Given the description of an element on the screen output the (x, y) to click on. 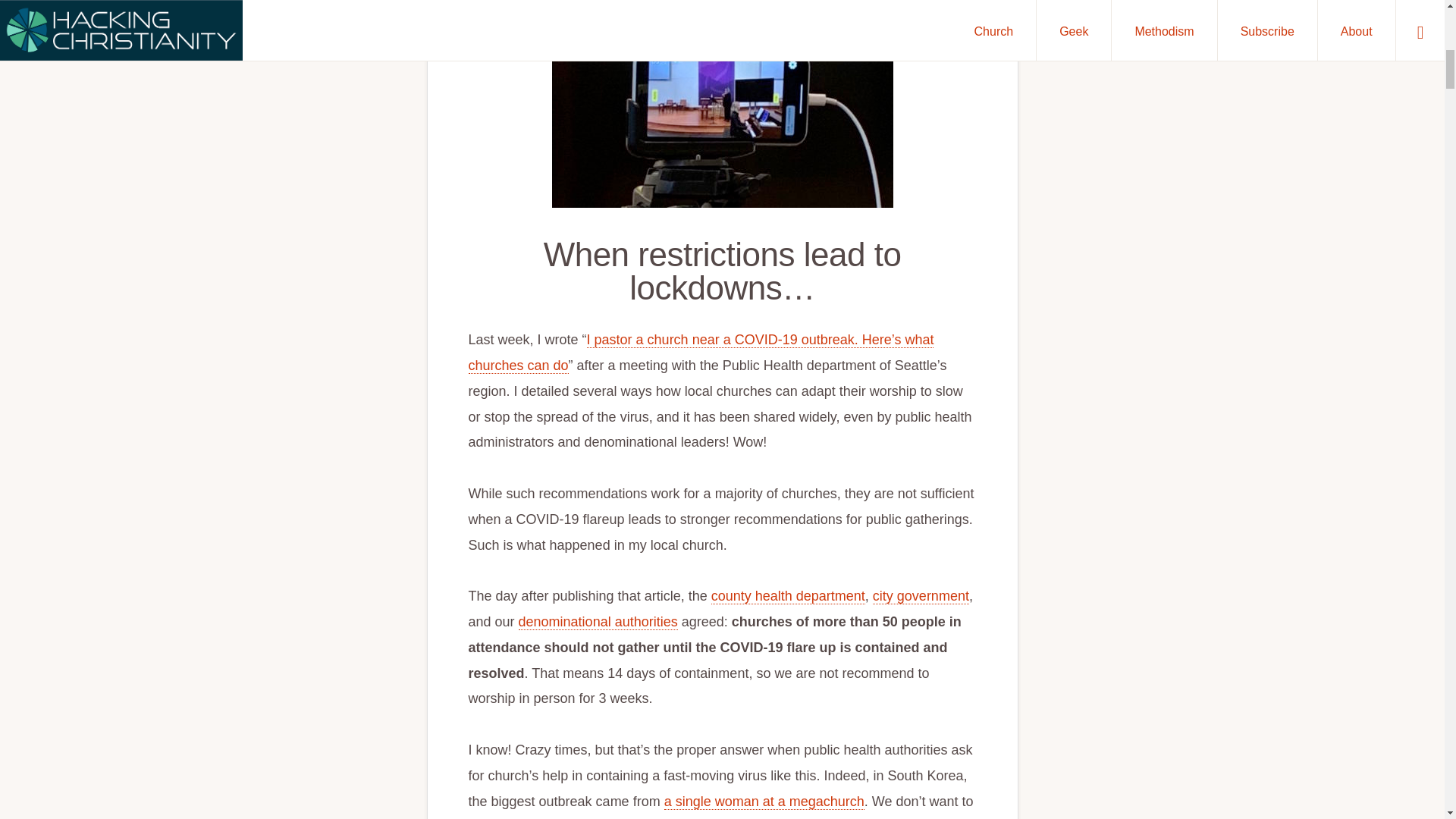
a single woman at a megachurch (763, 801)
city government (920, 596)
county health department (787, 596)
denominational authorities (598, 621)
